Given the description of an element on the screen output the (x, y) to click on. 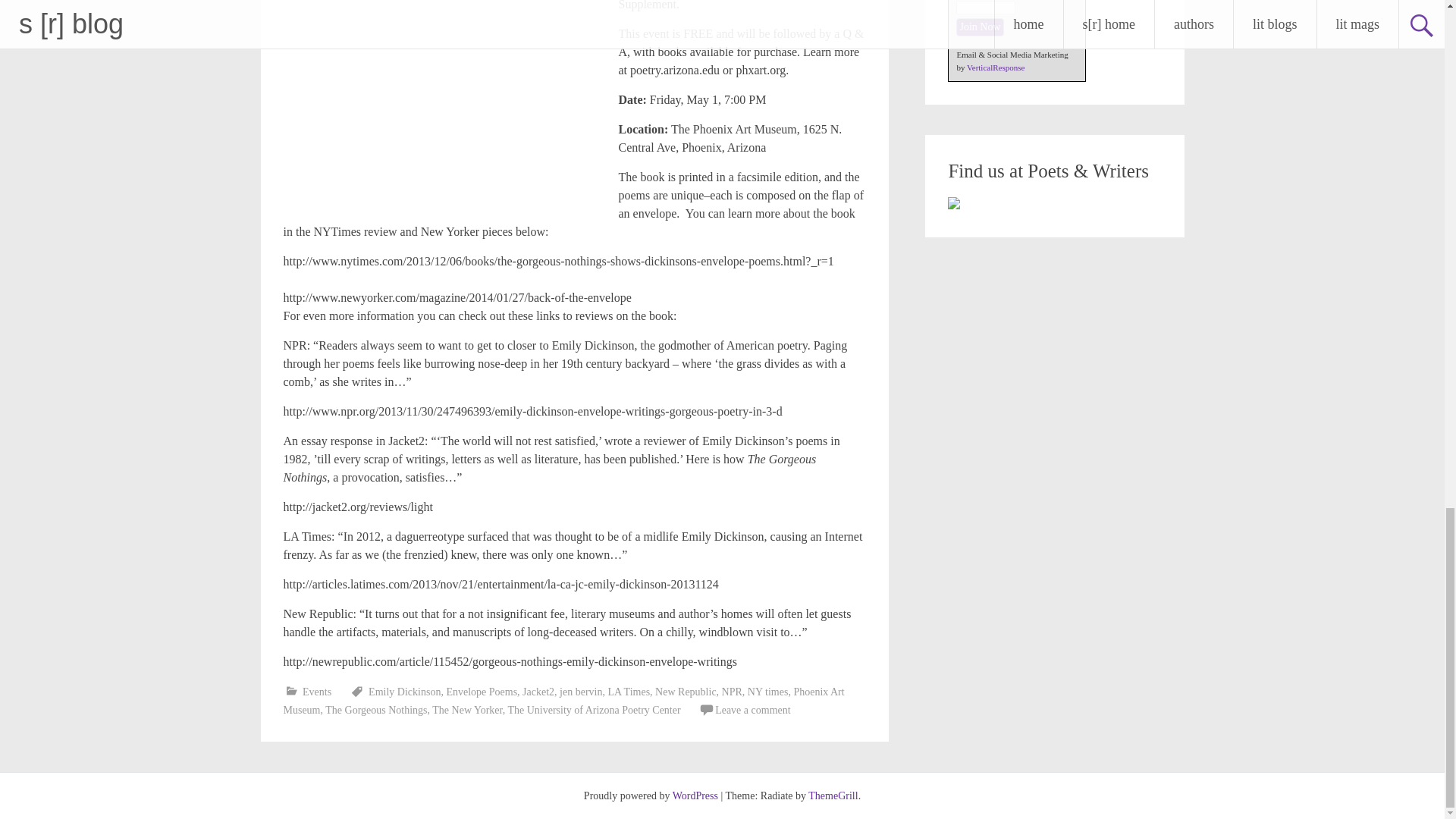
Join Now (979, 26)
Emily Dickinson (404, 691)
Events (316, 691)
